Given the description of an element on the screen output the (x, y) to click on. 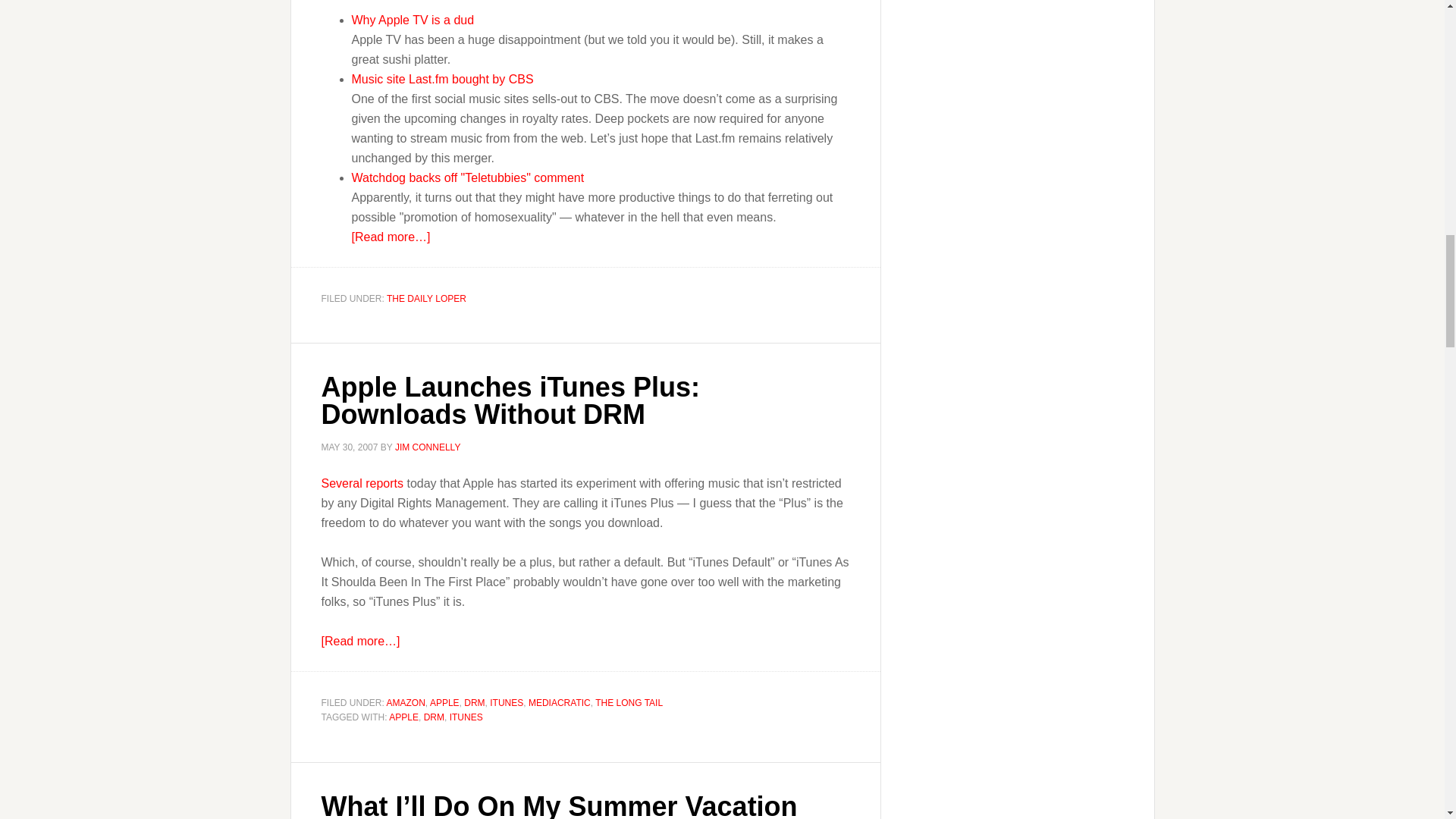
Music site Last.fm bought by CBS (443, 78)
MEDIACRATIC (559, 702)
DRM (474, 702)
Why Apple TV is a dud (413, 19)
THE LONG TAIL (628, 702)
AMAZON (406, 702)
JIM CONNELLY (427, 447)
THE DAILY LOPER (426, 297)
ITUNES (505, 702)
Apple Launches iTunes Plus: Downloads Without DRM (510, 400)
